Given the description of an element on the screen output the (x, y) to click on. 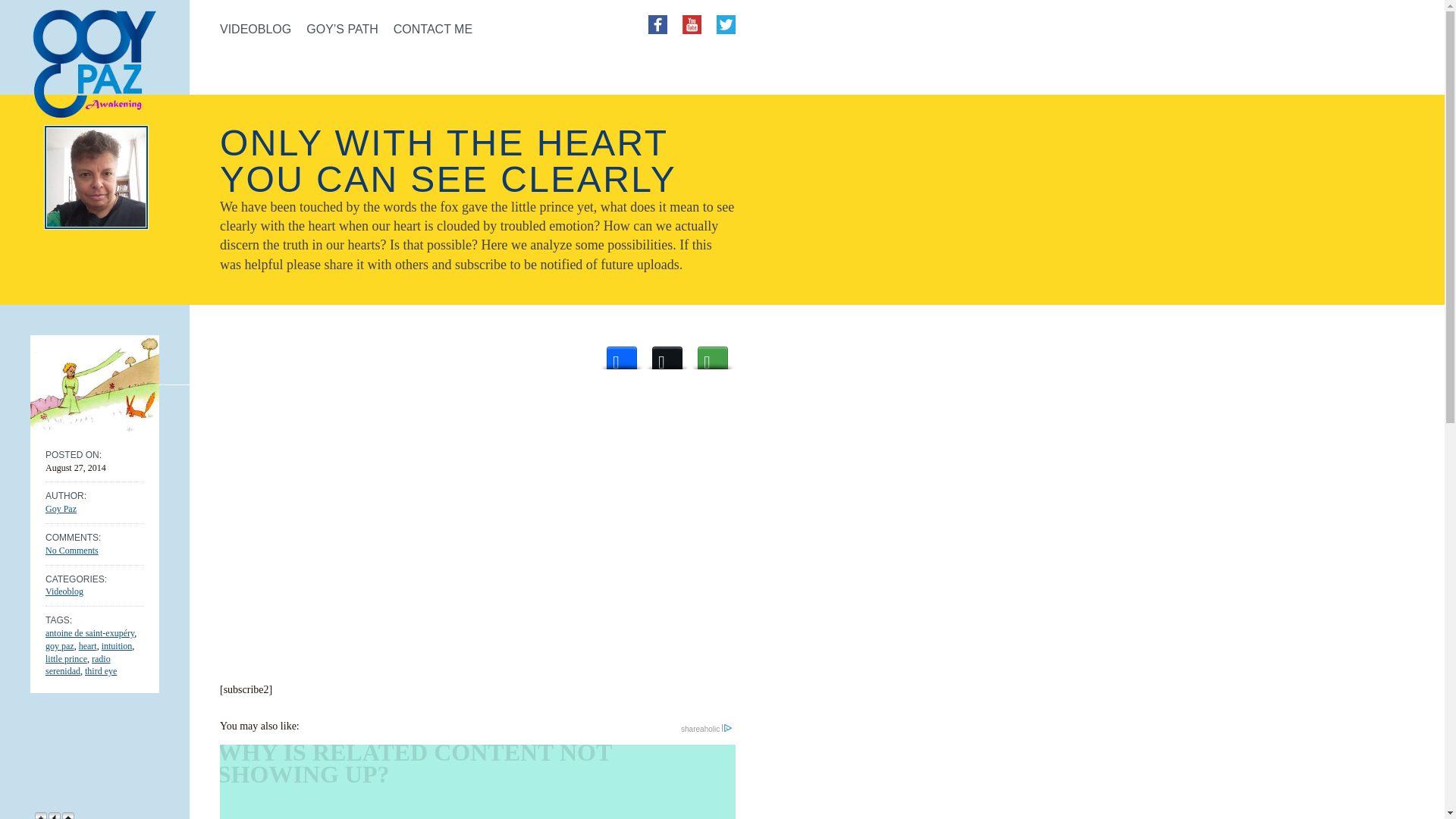
VIDEOBLOG (255, 35)
CONTACT ME (432, 35)
shareaholic (707, 728)
Facebook (621, 353)
Posts by Goy Paz (61, 508)
Videoblog (63, 591)
third eye (100, 670)
heart (87, 645)
little prince (66, 658)
